Given the description of an element on the screen output the (x, y) to click on. 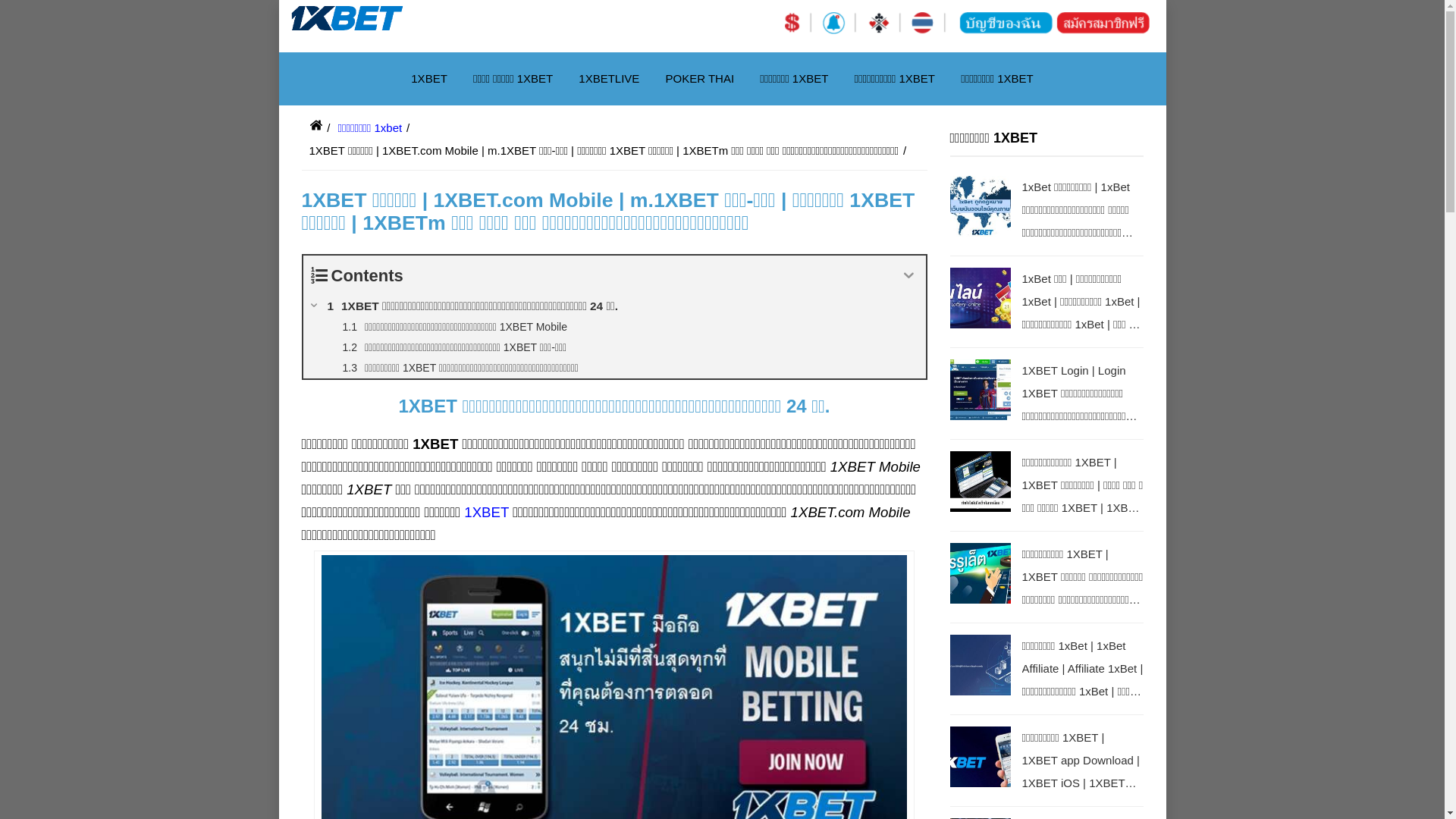
POKER THAI Element type: text (699, 78)
1XBET Element type: text (486, 512)
1XBETLIVE Element type: text (608, 78)
1XBET Element type: text (429, 78)
